Given the description of an element on the screen output the (x, y) to click on. 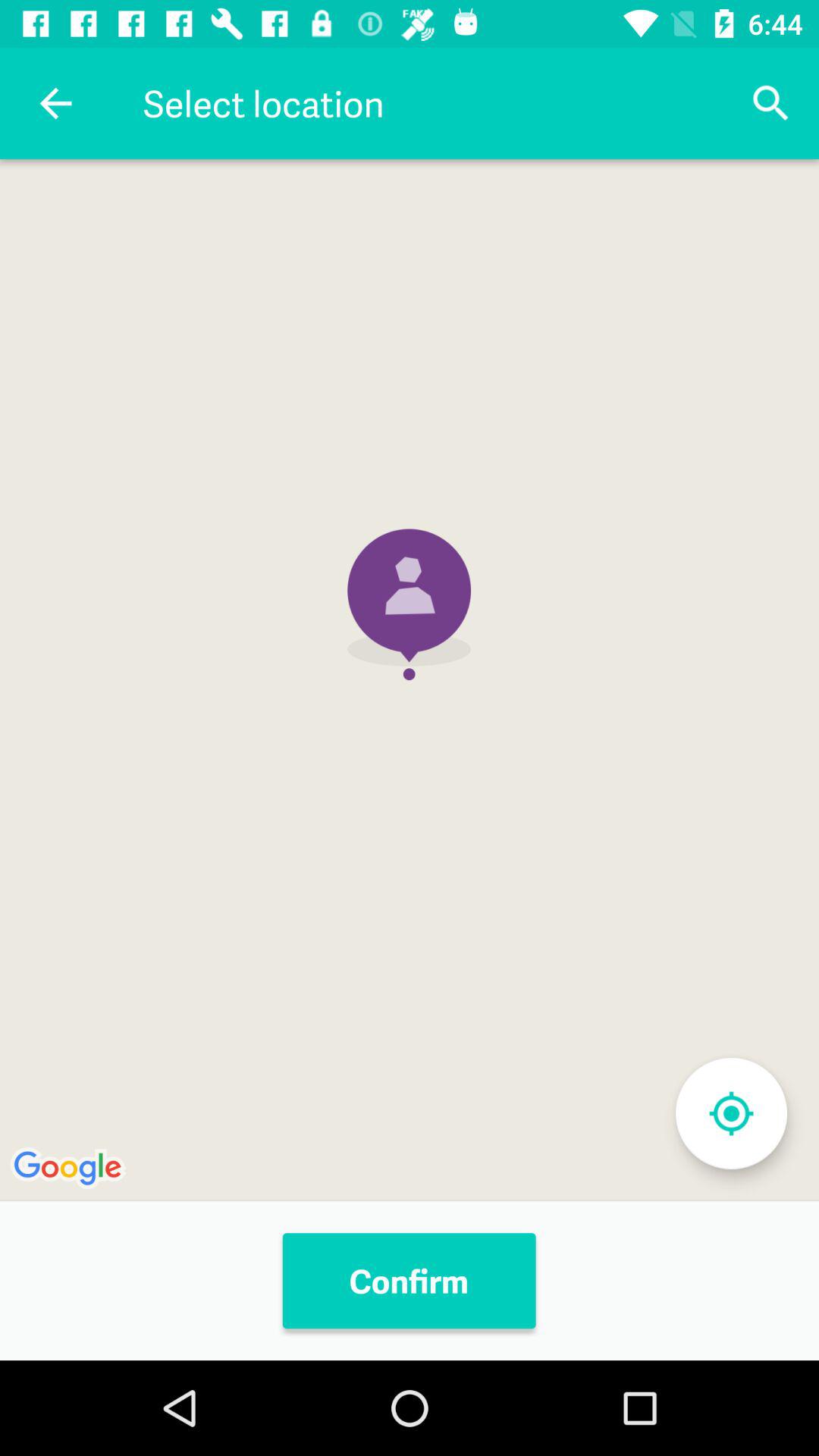
select icon to the left of the select location item (55, 103)
